Given the description of an element on the screen output the (x, y) to click on. 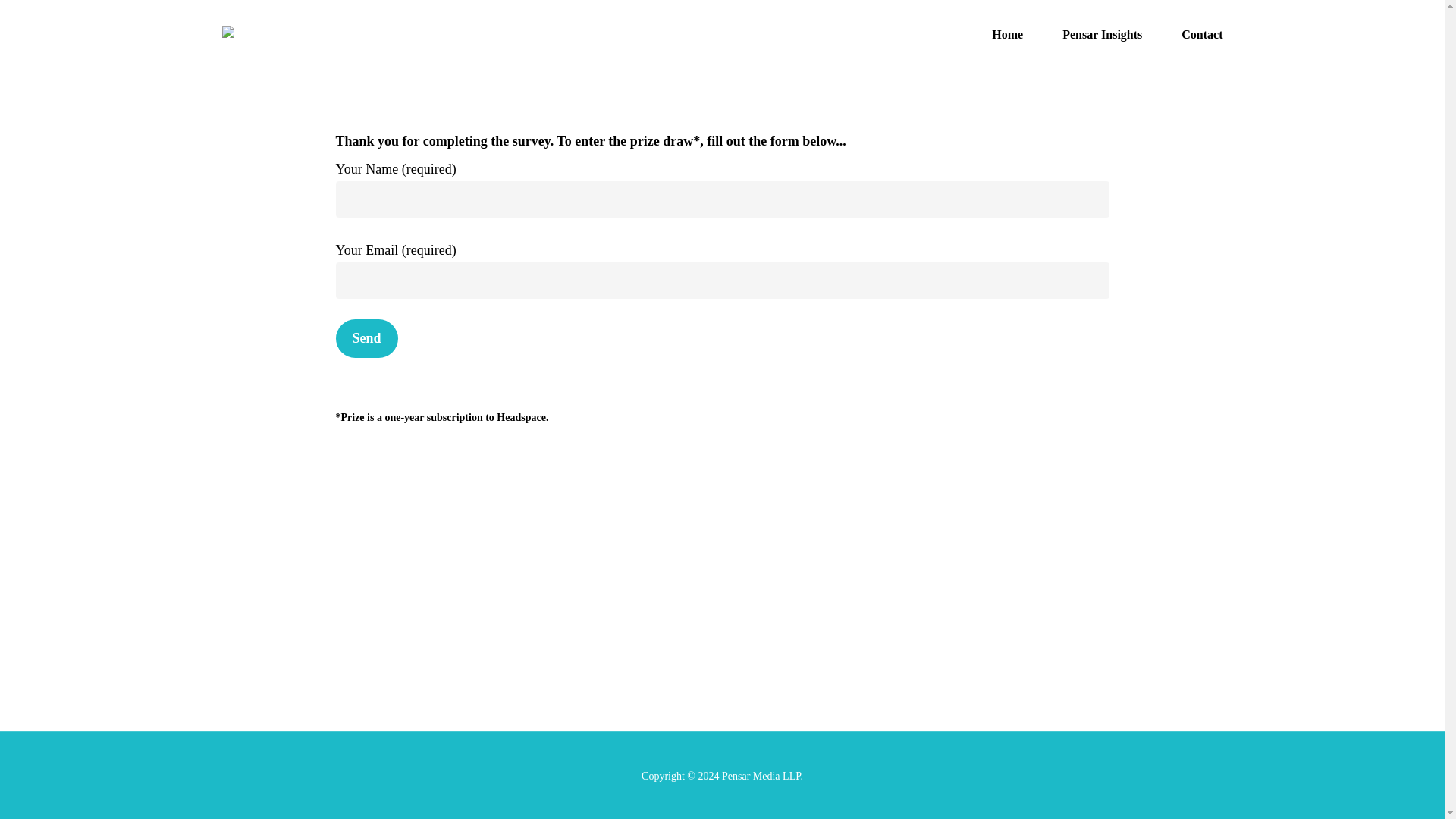
Send (365, 338)
Contact (1201, 34)
Home (1007, 34)
Send (365, 338)
Pensar Insights (1101, 34)
